Given the description of an element on the screen output the (x, y) to click on. 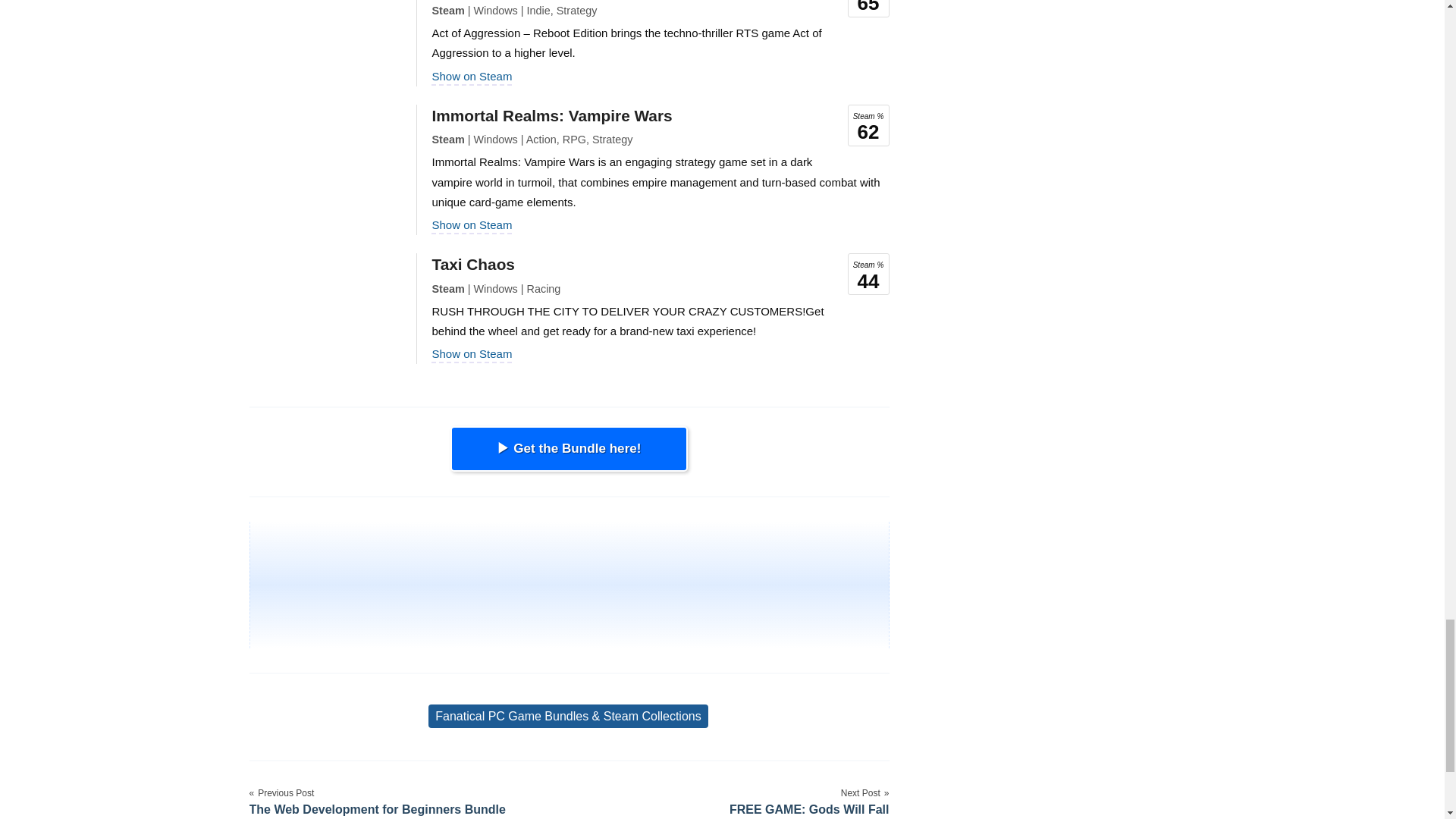
Buy Platinum Bundle - January 2022 from Fanatical here. (568, 448)
